Given the description of an element on the screen output the (x, y) to click on. 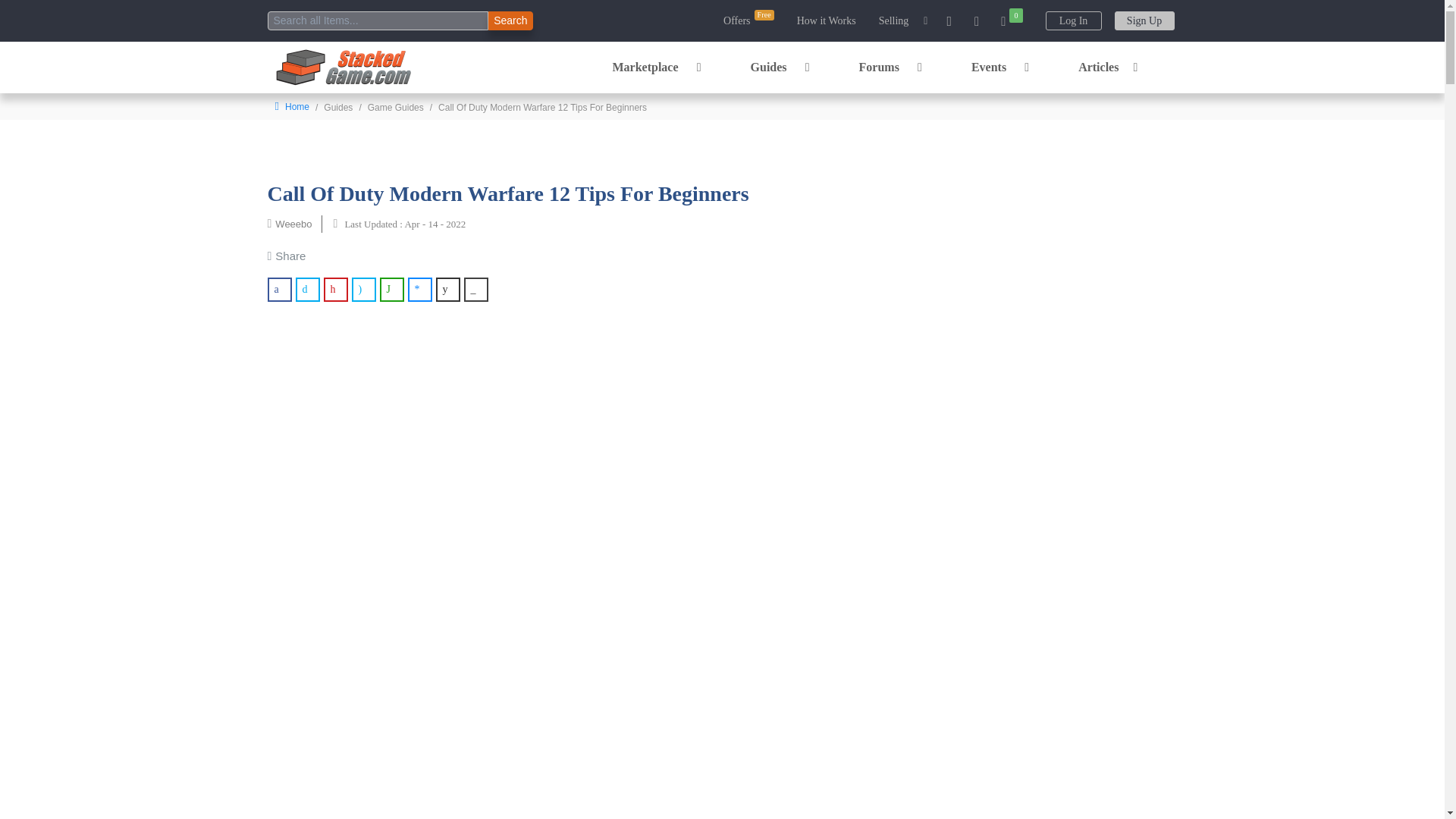
Log In (1068, 20)
Share on Copy Link (475, 289)
Share on WhatsApp (390, 289)
Sign Up (1139, 20)
Share on Pinterest (335, 289)
How it Works (826, 20)
Marketplace (653, 66)
Guides (777, 66)
search (376, 20)
Share on Twitter (307, 289)
